Given the description of an element on the screen output the (x, y) to click on. 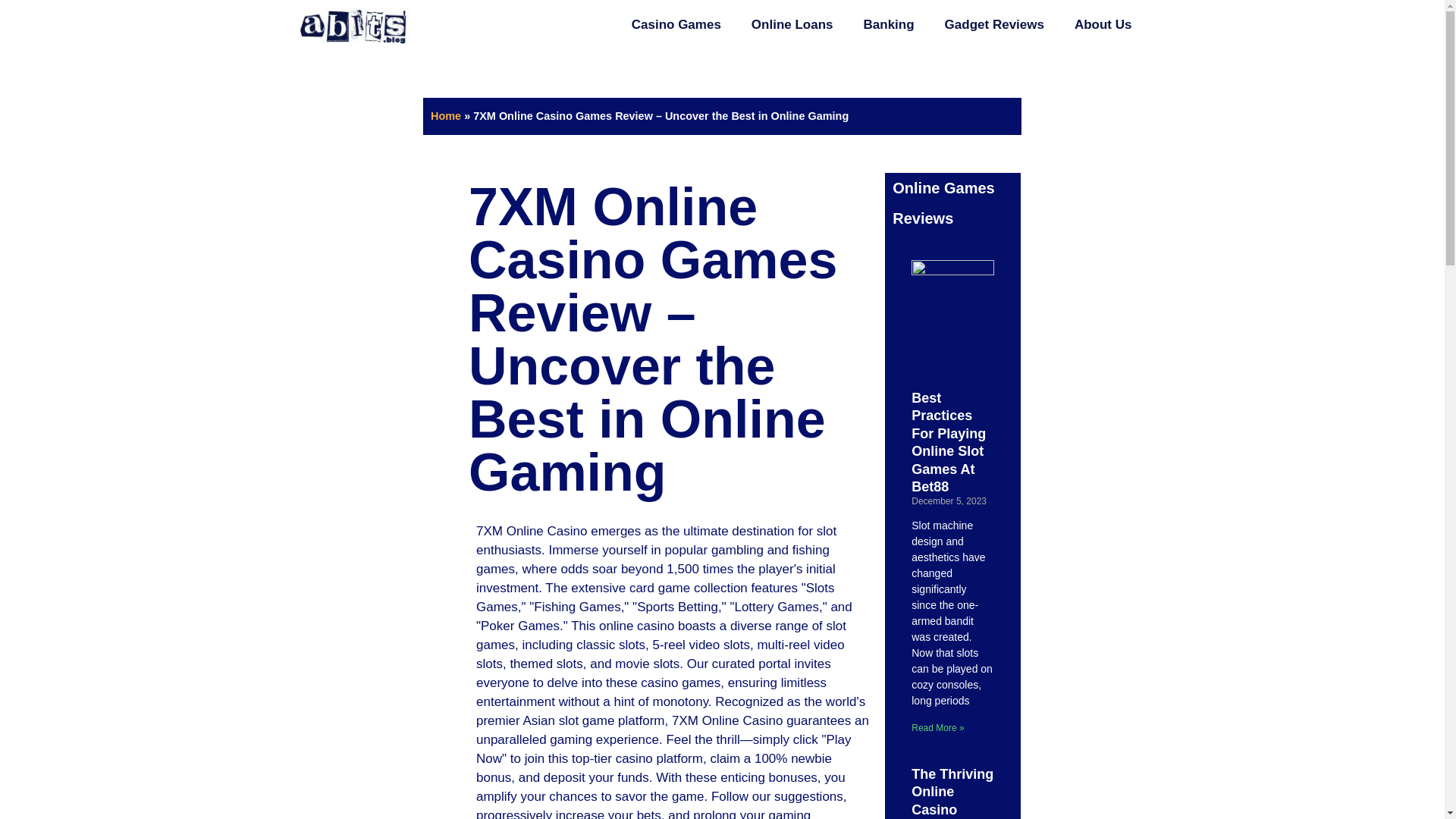
Banking (889, 24)
About Us (1103, 24)
7XM Online Casino (533, 531)
Gadget Reviews (994, 24)
Skip to content (11, 31)
7XM Online Casino (728, 720)
Online Loans (792, 24)
Casino Games (675, 24)
Home (445, 115)
logo4 (354, 26)
